Given the description of an element on the screen output the (x, y) to click on. 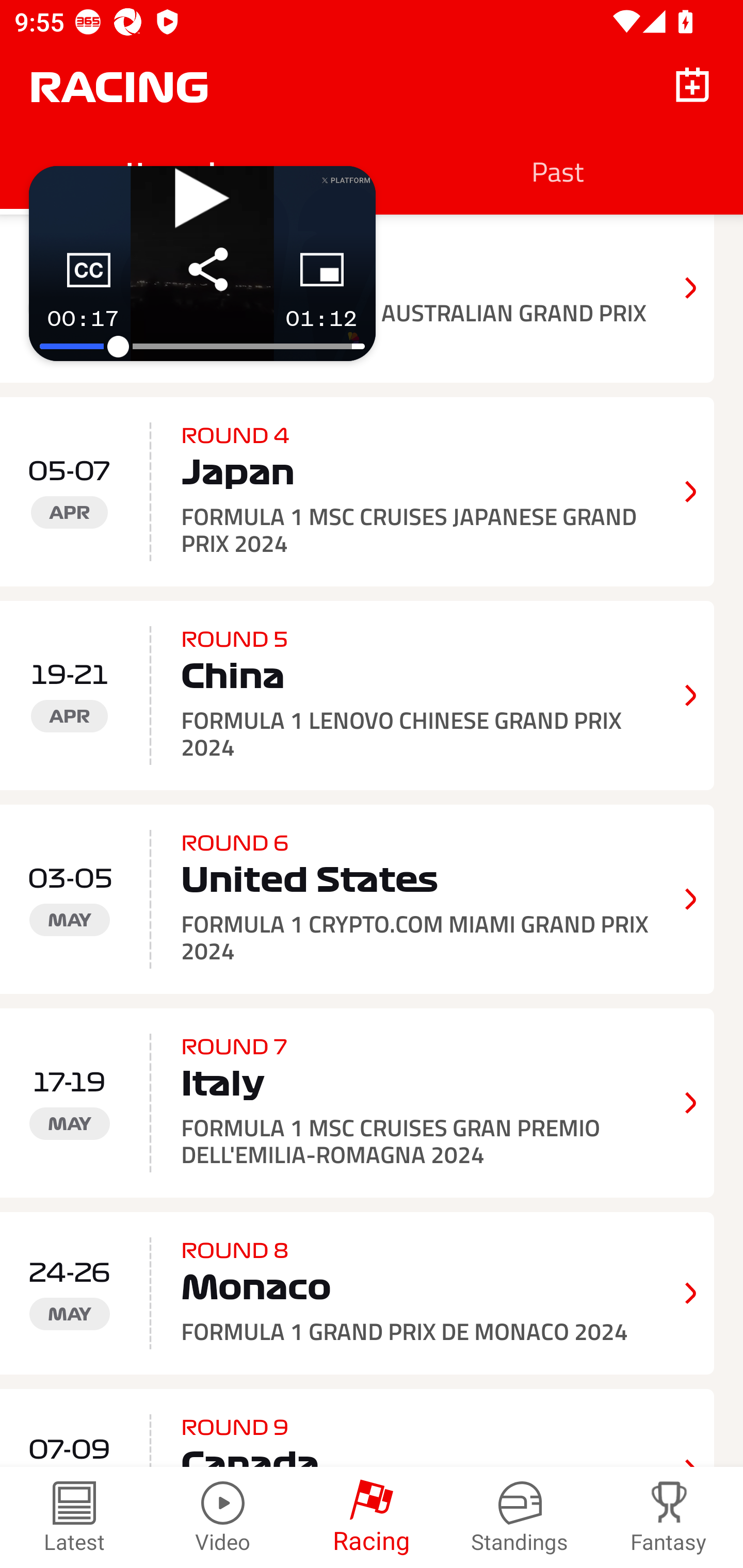
Past (557, 171)
Latest (74, 1517)
Video (222, 1517)
Standings (519, 1517)
Fantasy (668, 1517)
